Given the description of an element on the screen output the (x, y) to click on. 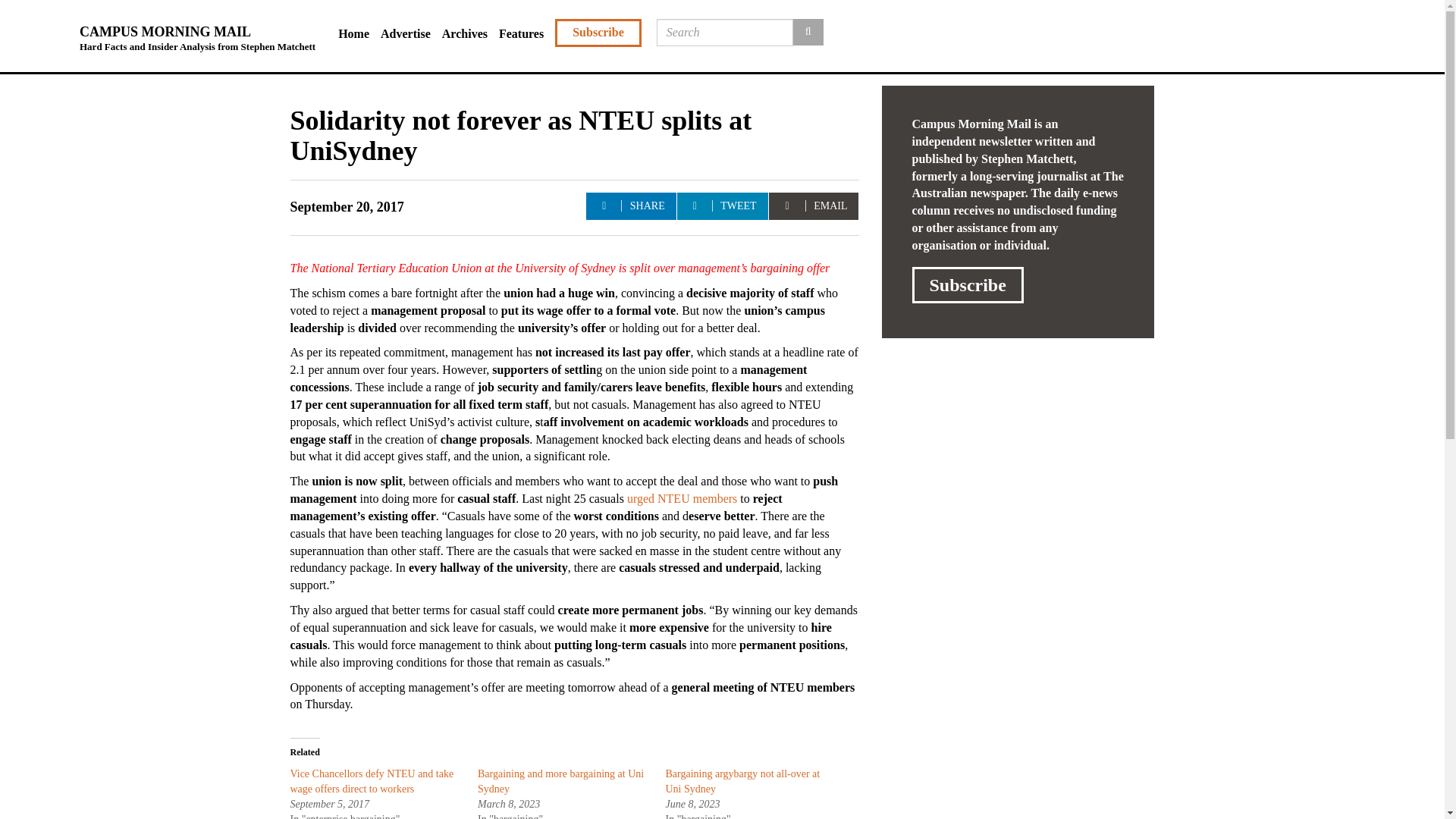
Bargaining and more bargaining at Uni Sydney (560, 781)
urged NTEU members (681, 498)
Archives (470, 34)
Search (808, 31)
Archives (470, 34)
Home (358, 34)
Features (526, 34)
Search for: (724, 31)
Features (526, 34)
